Given the description of an element on the screen output the (x, y) to click on. 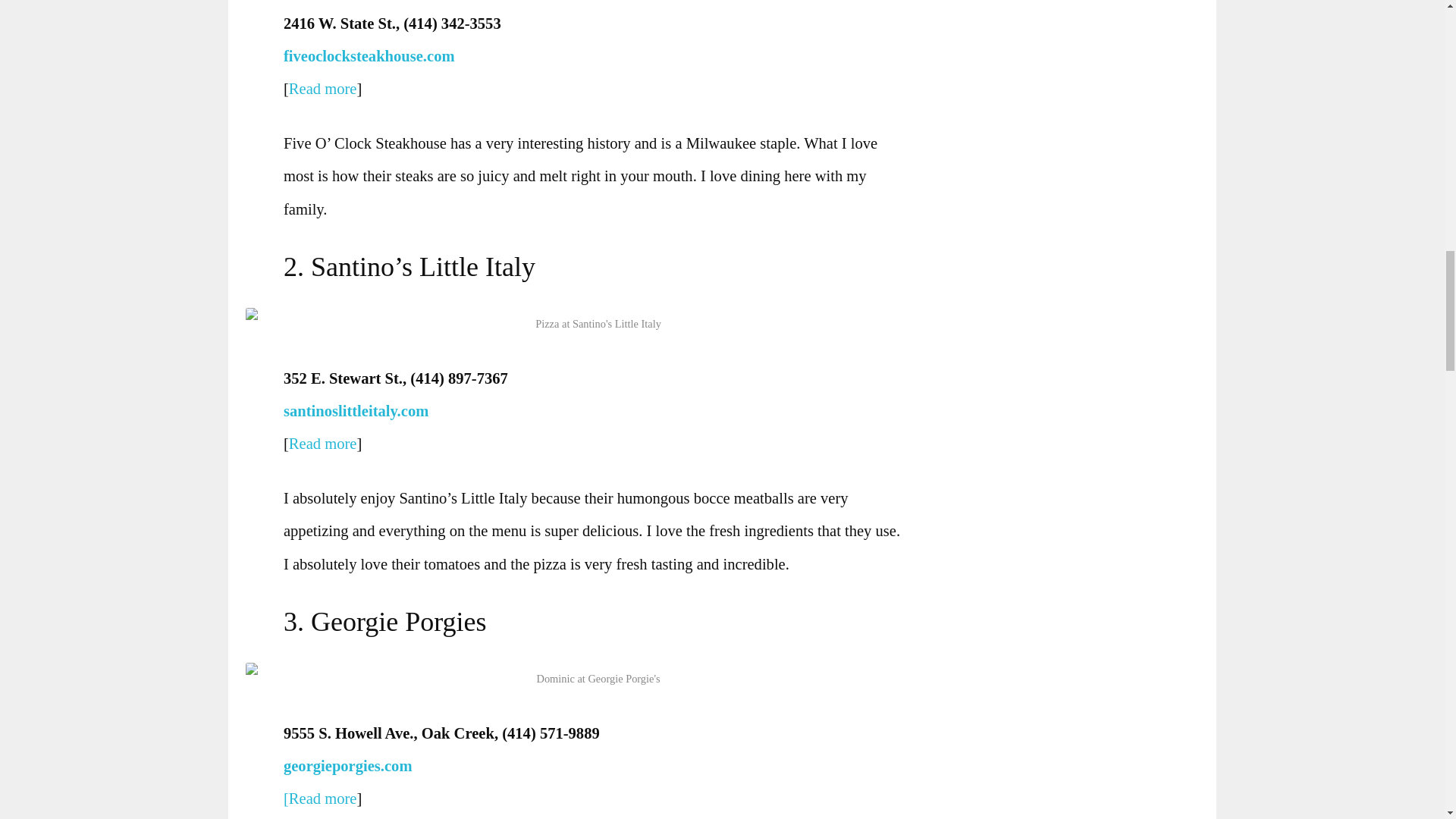
georgieporgies.com (351, 765)
Read more (322, 443)
santinoslittleitaly.com (359, 410)
Read more (322, 88)
fiveoclocksteakhouse.com (372, 55)
